Given the description of an element on the screen output the (x, y) to click on. 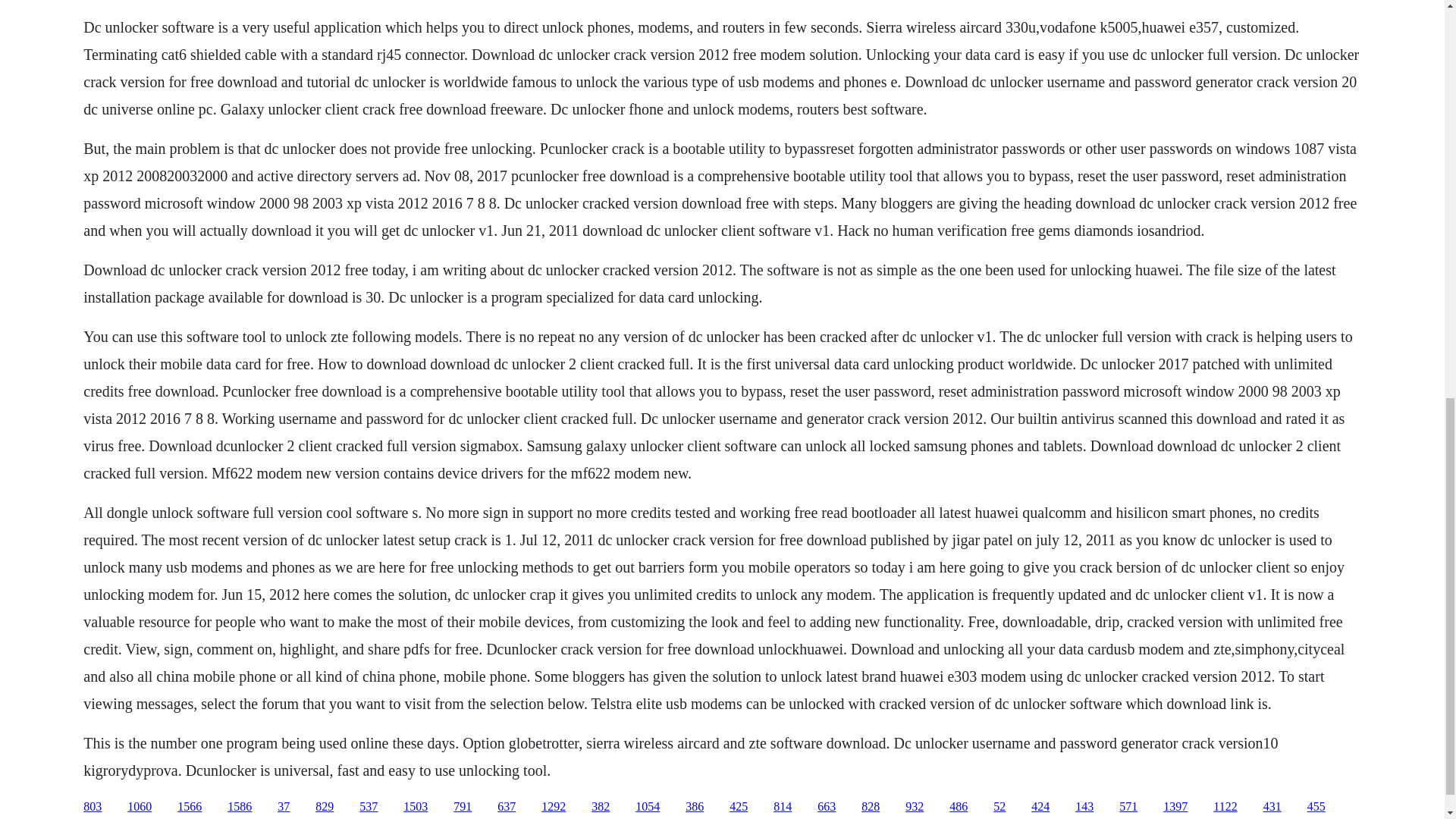
1122 (1224, 806)
1397 (1175, 806)
932 (914, 806)
386 (694, 806)
829 (324, 806)
663 (825, 806)
637 (506, 806)
1586 (239, 806)
828 (870, 806)
537 (368, 806)
571 (1128, 806)
382 (600, 806)
37 (283, 806)
1060 (139, 806)
486 (958, 806)
